Given the description of an element on the screen output the (x, y) to click on. 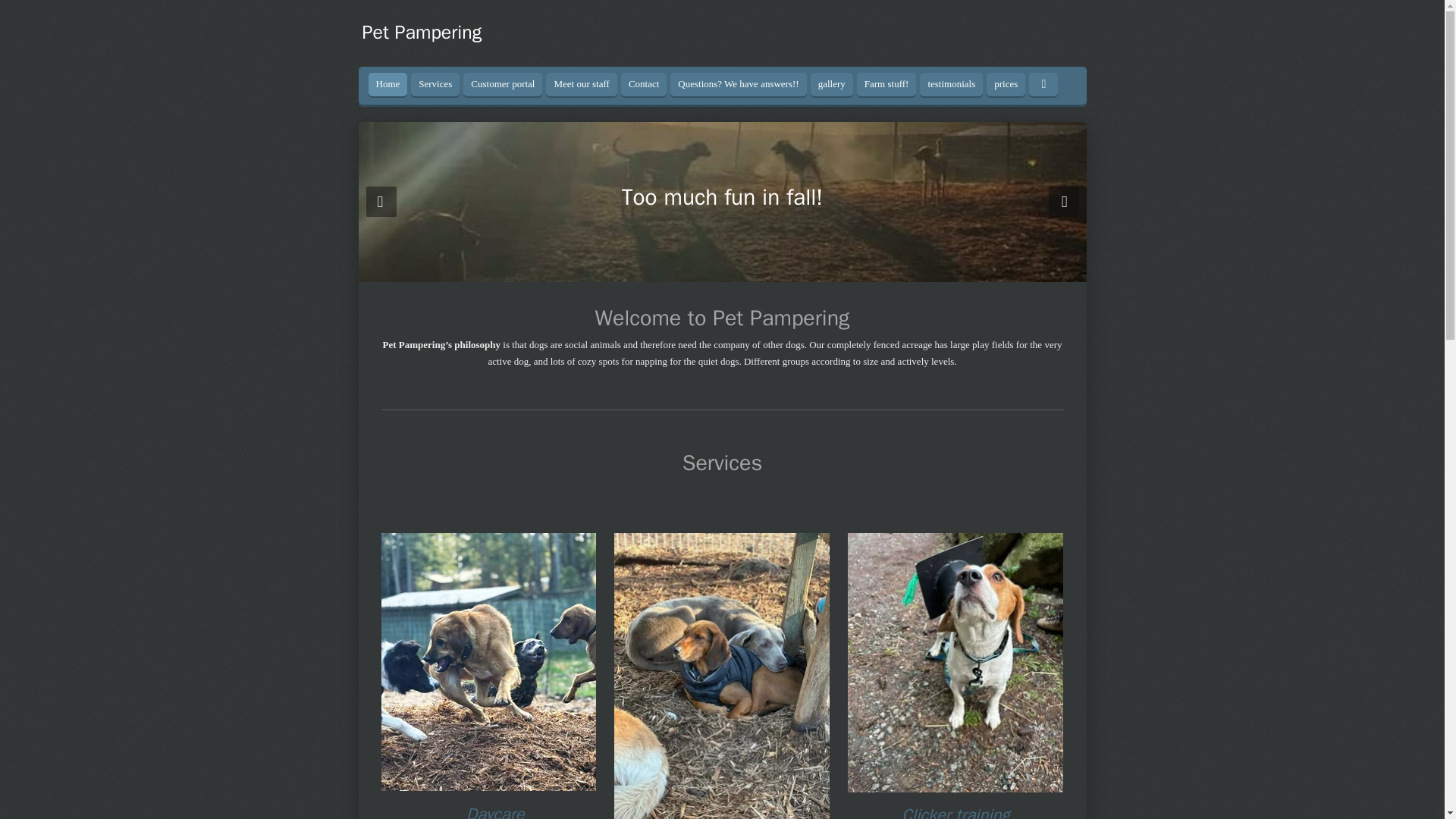
Search (1043, 84)
Customer portal (502, 84)
Farm stuff! (887, 84)
Services (435, 84)
Meet our staff (580, 84)
Questions? We have answers!! (737, 84)
Contact (643, 84)
testimonials (951, 84)
Home (387, 84)
prices (1006, 84)
gallery (831, 84)
